Given the description of an element on the screen output the (x, y) to click on. 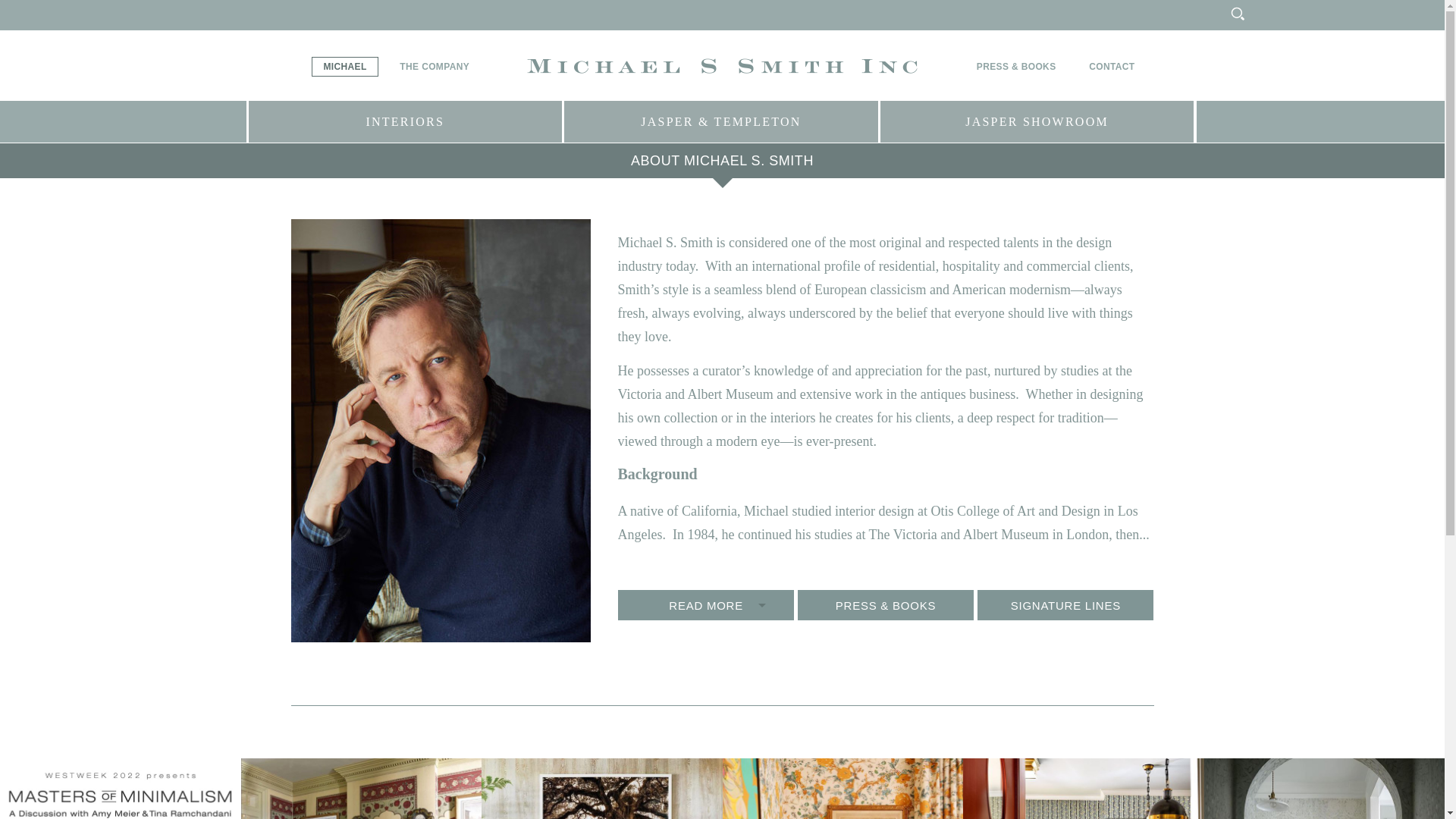
MICHAEL (344, 66)
THE COMPANY (434, 66)
SIGNATURE LINES (1064, 604)
CONTACT (1111, 66)
JASPER SHOWROOM (1036, 121)
READ MORE (705, 604)
INTERIORS (405, 121)
